Given the description of an element on the screen output the (x, y) to click on. 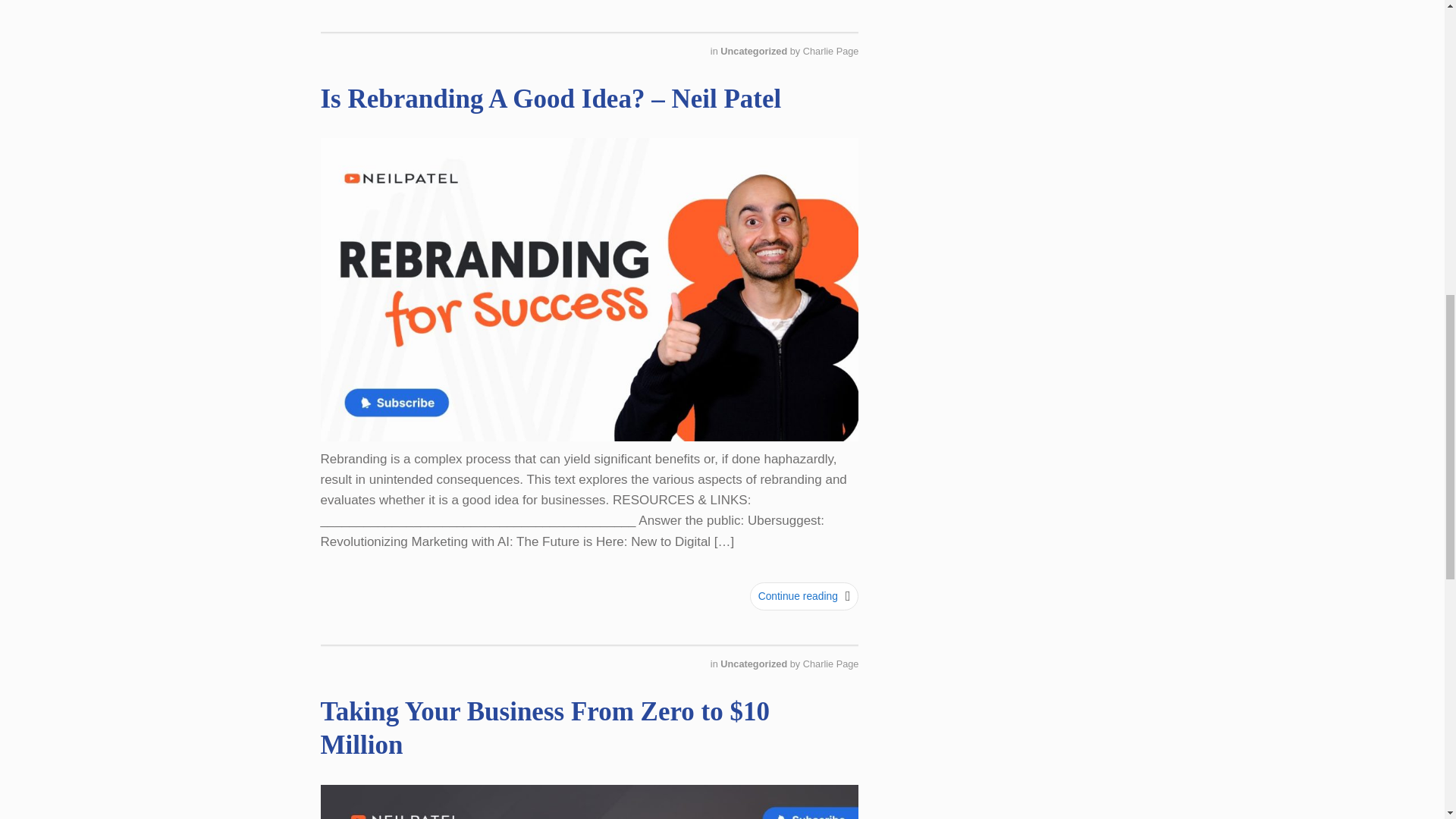
Charlie Page (831, 663)
Uncategorized (754, 50)
Charlie Page (831, 50)
Uncategorized (754, 663)
